Given the description of an element on the screen output the (x, y) to click on. 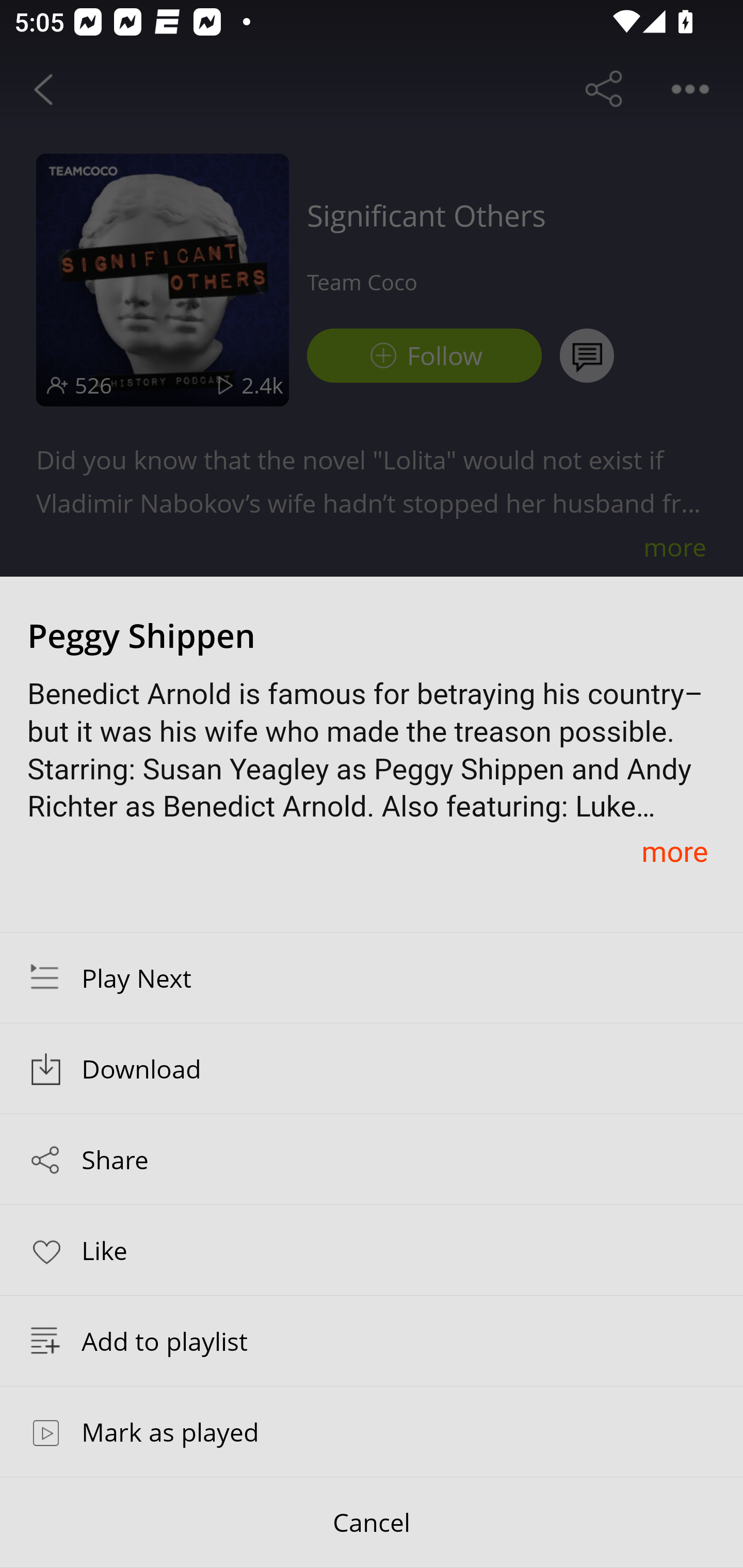
more (674, 851)
Play Next (371, 977)
Download (371, 1068)
Share (371, 1159)
Like (371, 1249)
Add to playlist (371, 1340)
Mark as played (371, 1431)
Cancel (371, 1522)
